Given the description of an element on the screen output the (x, y) to click on. 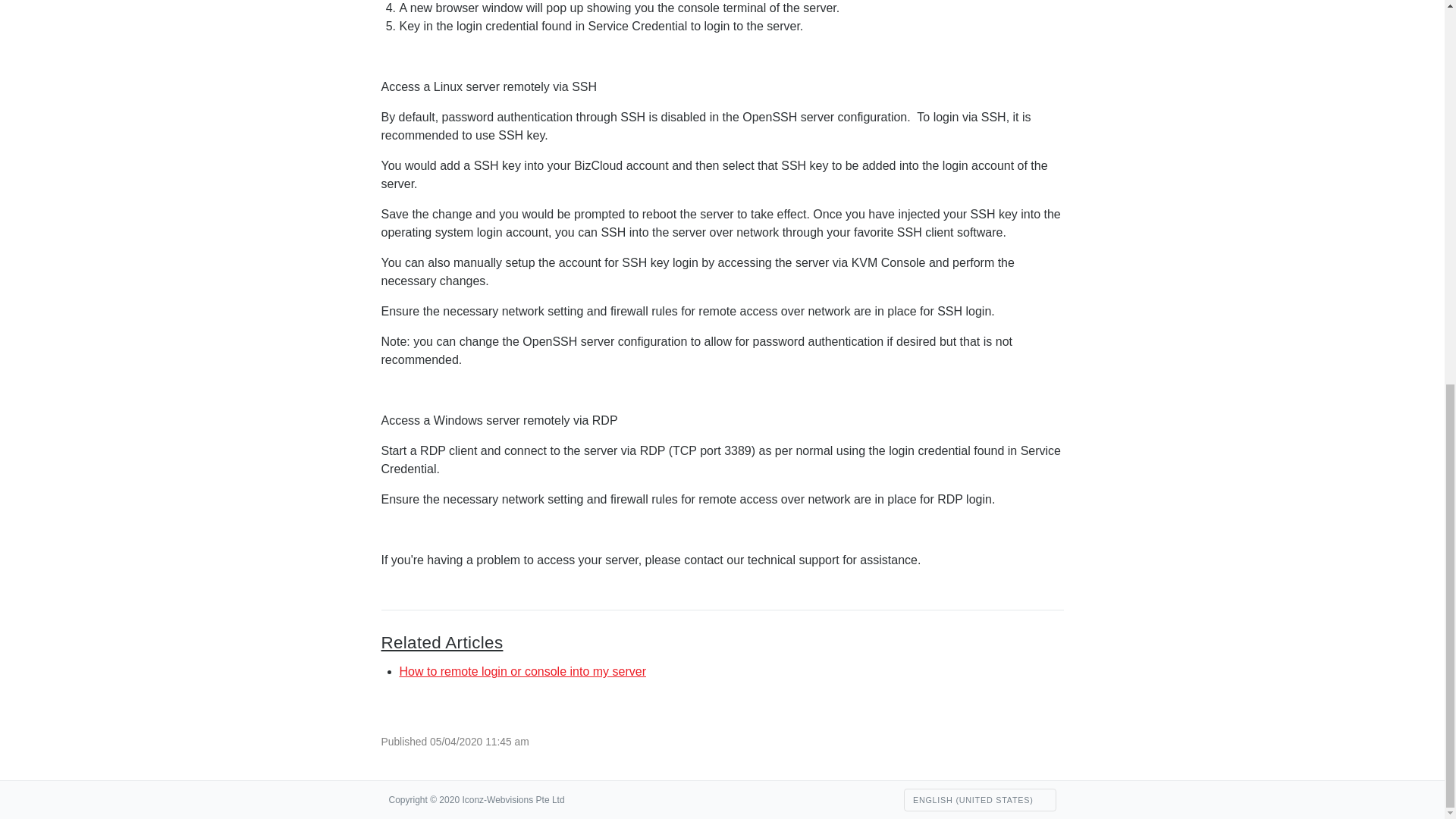
How to remote login or console into my server (521, 671)
